Given the description of an element on the screen output the (x, y) to click on. 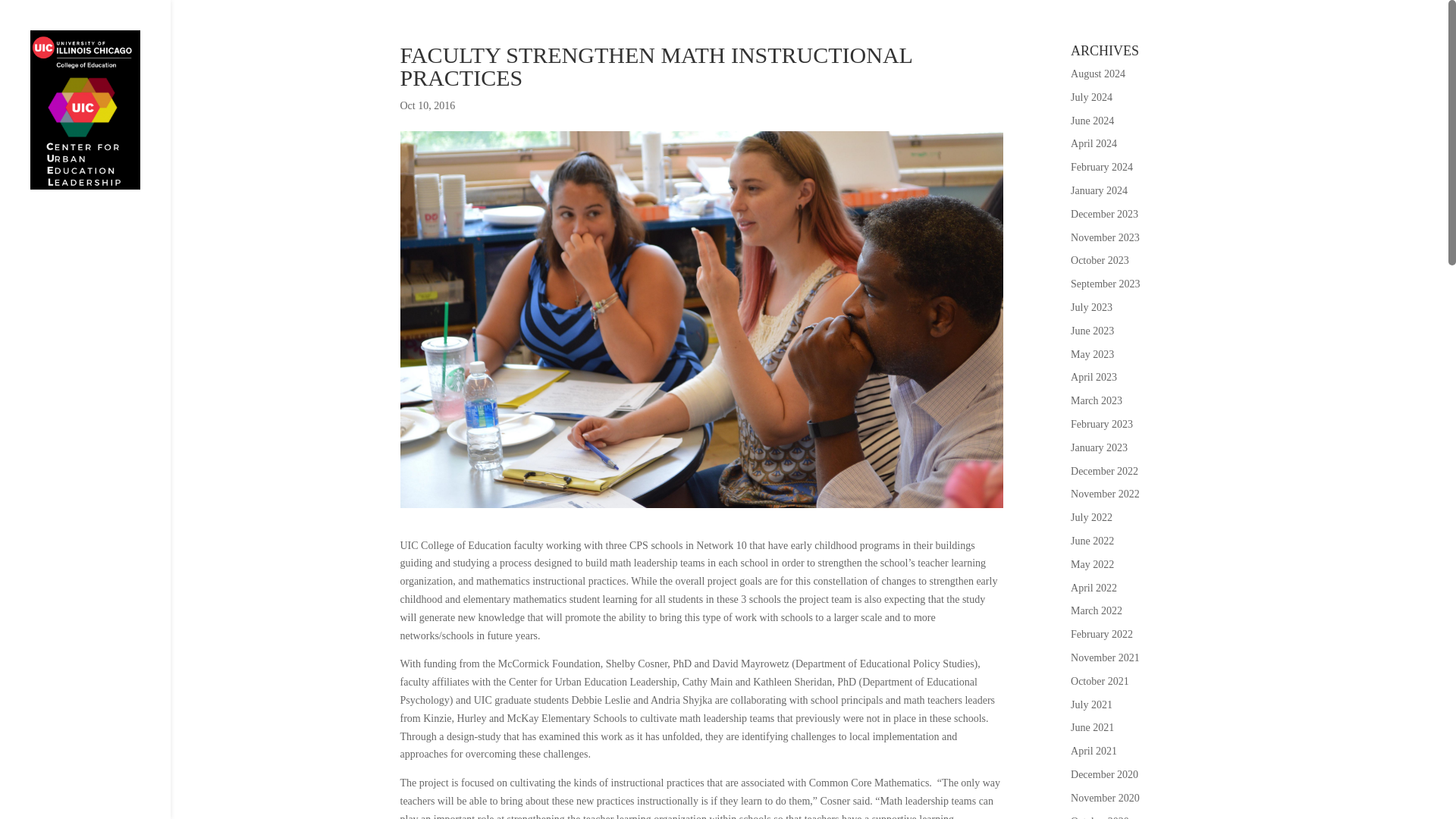
June 2024 (1091, 120)
IN THE NEWS (100, 386)
January 2024 (1098, 190)
July 2024 (1091, 97)
April 2024 (1093, 143)
WHAT WE DO (100, 258)
CONTACT US! (100, 418)
August 2024 (1097, 73)
ABOUT US (100, 226)
